Given the description of an element on the screen output the (x, y) to click on. 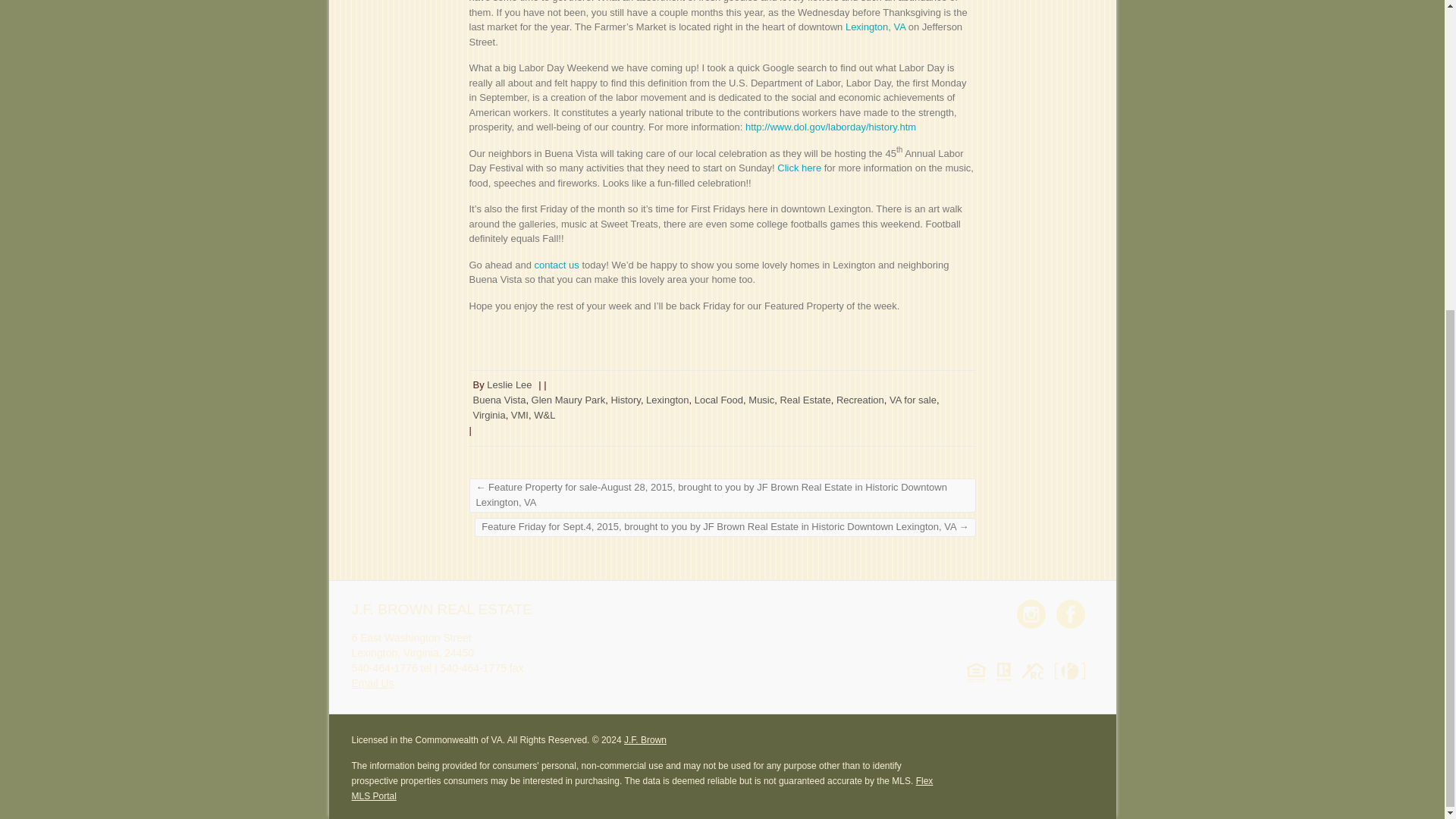
RealConnect, custom MLS software by Birch Studio (1036, 670)
Click here (799, 167)
Lexington, VA (875, 26)
J.F. Brown (645, 739)
contact us (556, 264)
